Given the description of an element on the screen output the (x, y) to click on. 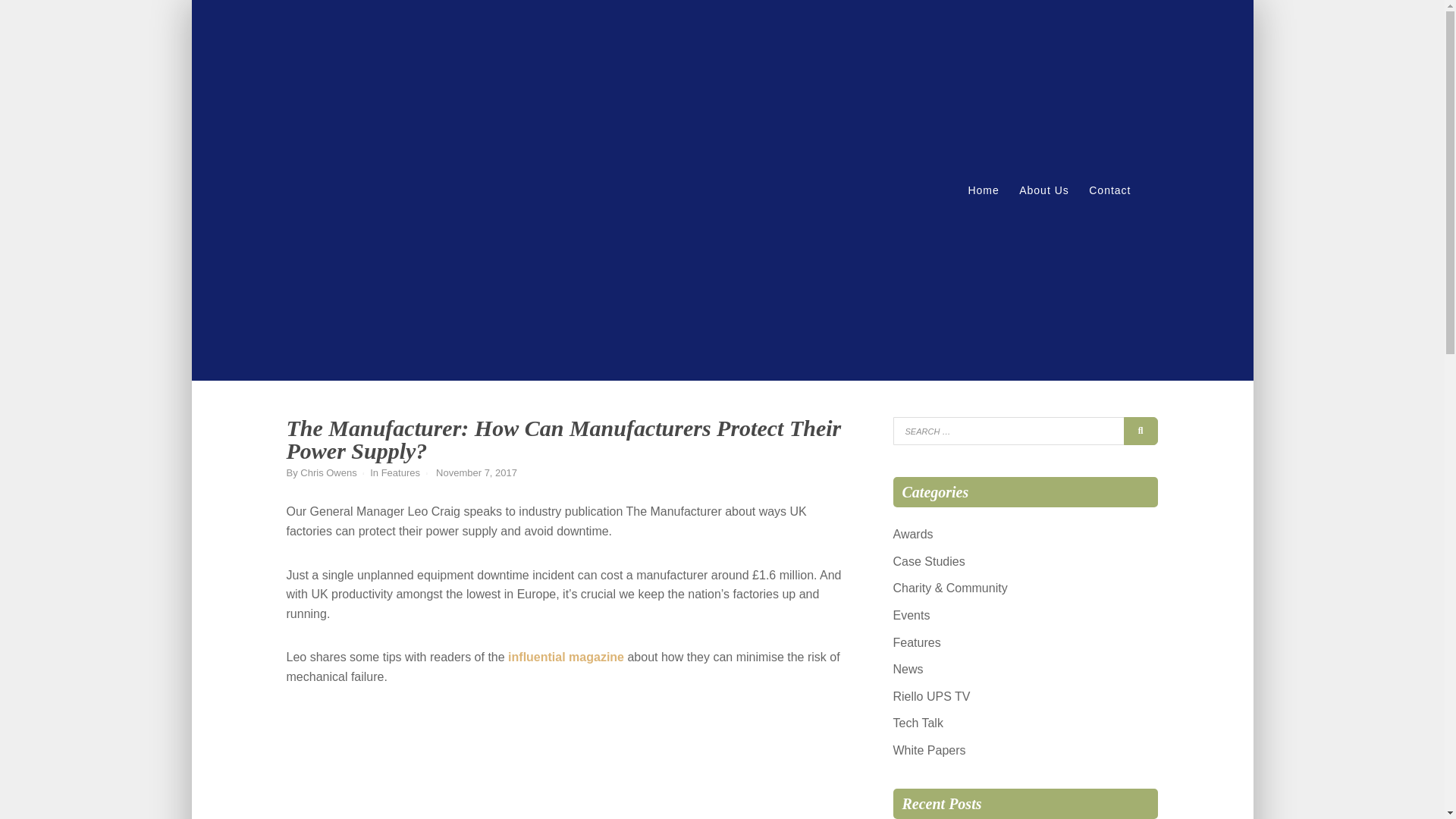
Home (983, 189)
About Us (1043, 189)
Awards (913, 533)
Chris Owens (327, 472)
SEARCH (1141, 430)
Case Studies (929, 561)
influential magazine (566, 656)
Riello UPS TV (932, 696)
Events (911, 615)
News (908, 668)
November 7, 2017 (475, 472)
Contact (1109, 189)
Features (400, 472)
Features (916, 642)
